Given the description of an element on the screen output the (x, y) to click on. 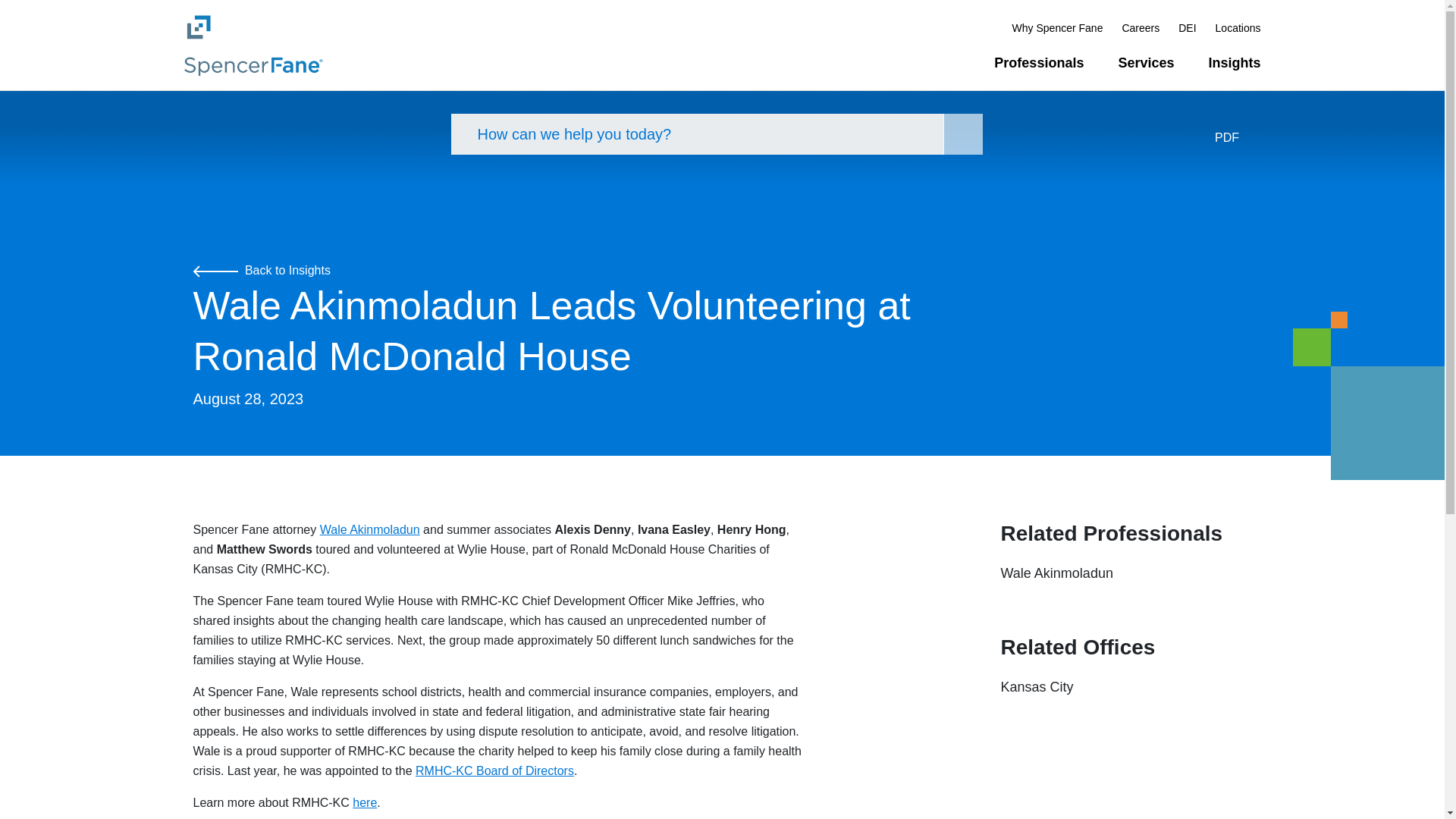
Kansas City (1037, 686)
Search (962, 133)
Careers (1139, 27)
PDF (1237, 137)
Wale Akinmoladun (1057, 572)
Professionals (1038, 62)
Services (1145, 62)
Insights (1234, 62)
RMHC-KC Board of Directors (493, 770)
Back to Insights (261, 269)
